Given the description of an element on the screen output the (x, y) to click on. 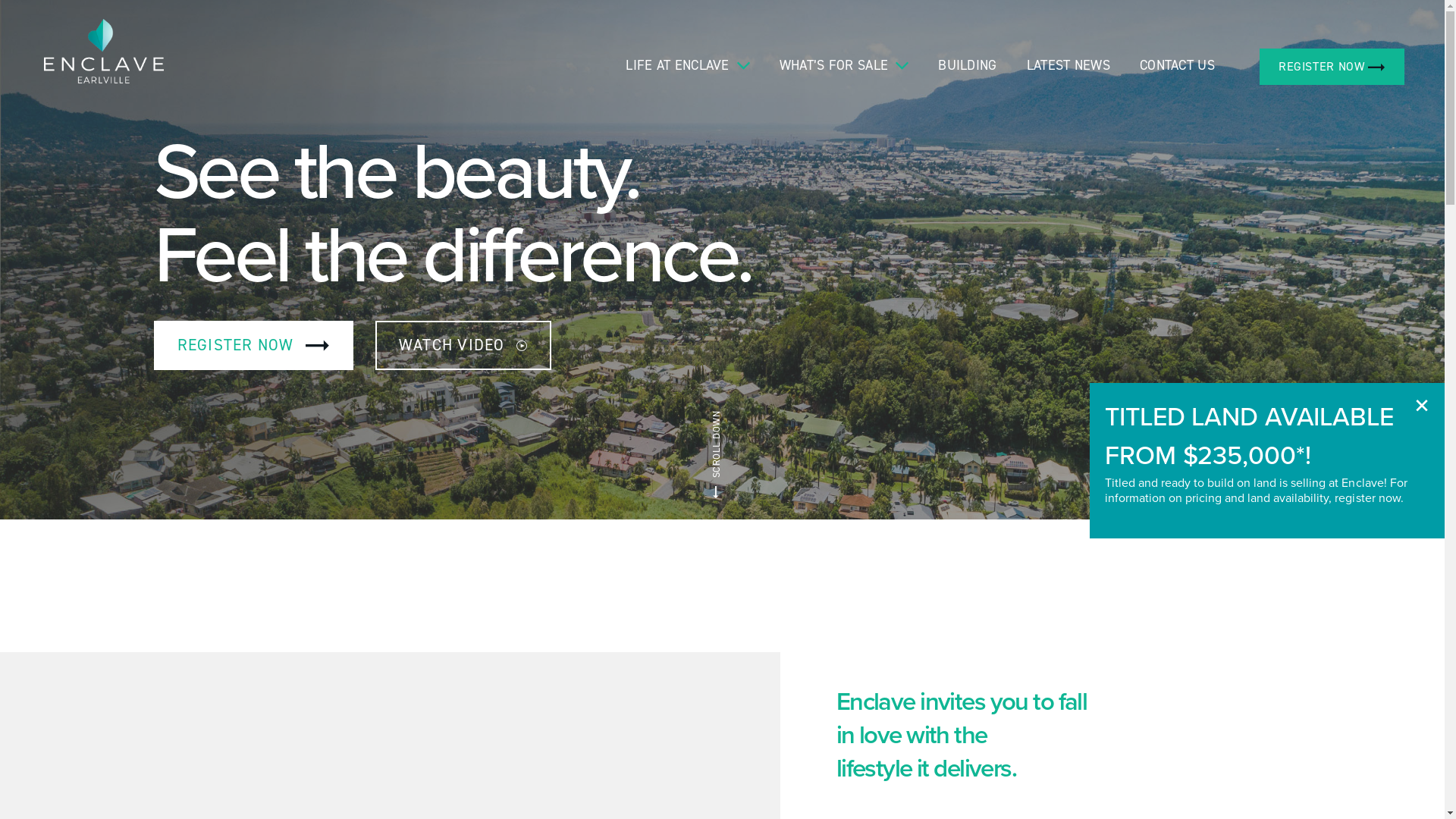
WATCH VIDEO Element type: text (463, 344)
LATEST NEWS Element type: text (1068, 65)
BUILDING Element type: text (967, 65)
CONTACT US Element type: text (1176, 65)
REGISTER NOW Element type: text (252, 344)
REGISTER NOW Element type: text (1331, 66)
LIFE AT ENCLAVE Element type: text (677, 65)
